Given the description of an element on the screen output the (x, y) to click on. 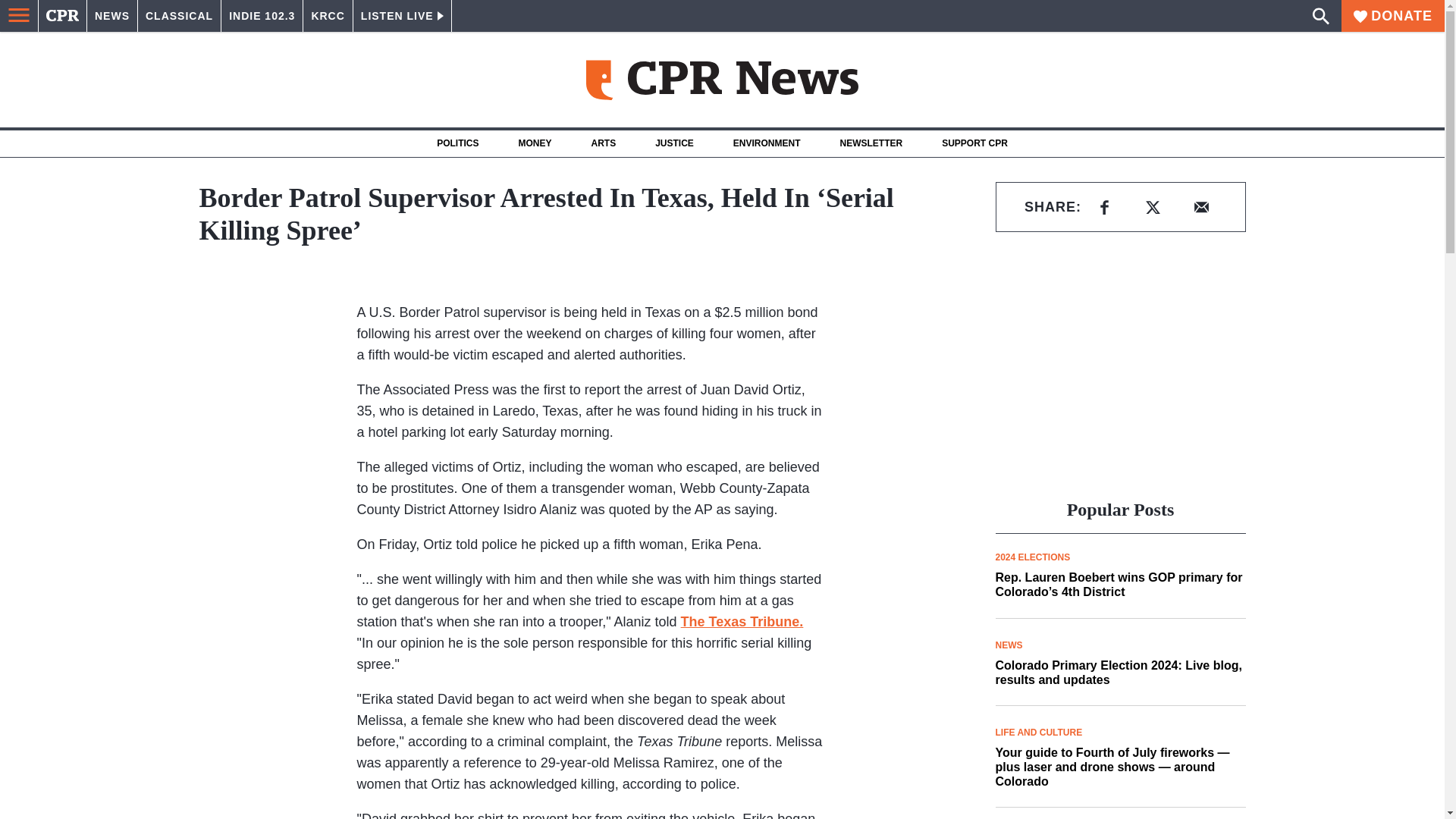
NEWS (111, 15)
LISTEN LIVE (402, 15)
KRCC (327, 15)
INDIE 102.3 (261, 15)
CLASSICAL (179, 15)
